Given the description of an element on the screen output the (x, y) to click on. 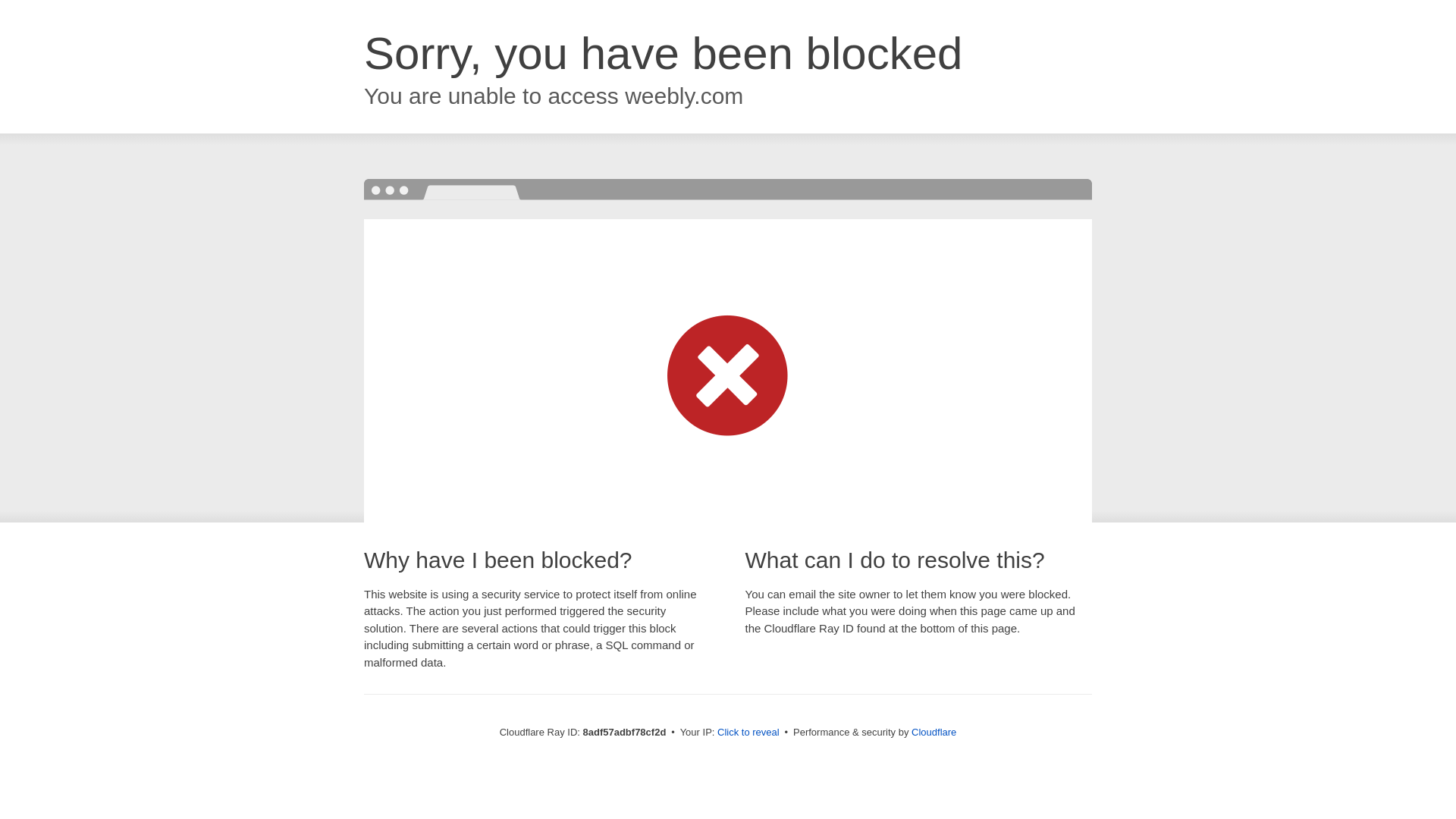
Click to reveal (747, 732)
Cloudflare (933, 731)
